Given the description of an element on the screen output the (x, y) to click on. 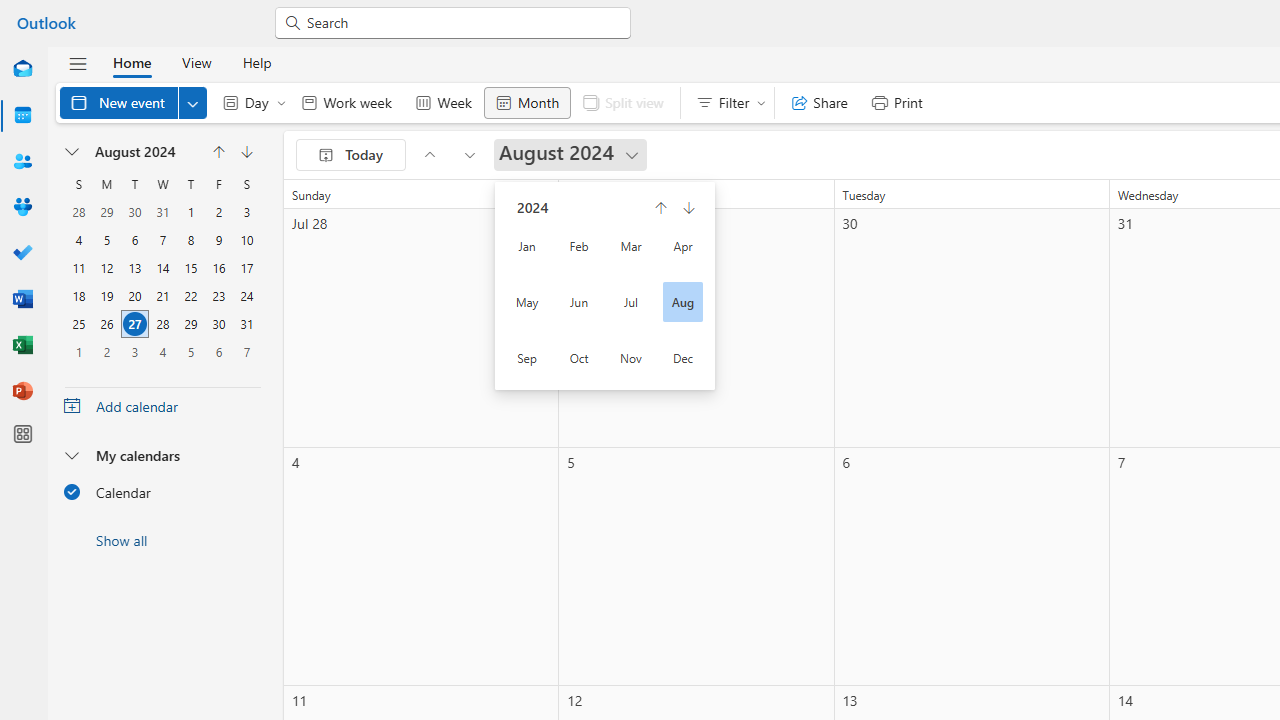
3, August, 2024 (246, 212)
21, August, 2024 (162, 296)
Work week (346, 102)
5, September, 2024 (190, 351)
Go to previous month July (218, 152)
Go to today August 27, 2024 (350, 154)
16, August, 2024 (218, 268)
22, August, 2024 (190, 296)
August 2024 (570, 154)
28, August, 2024 (162, 323)
15, August, 2024 (190, 268)
More apps (22, 434)
28, July, 2024 (78, 211)
25, August, 2024 (79, 323)
20, August, 2024 (134, 295)
